Given the description of an element on the screen output the (x, y) to click on. 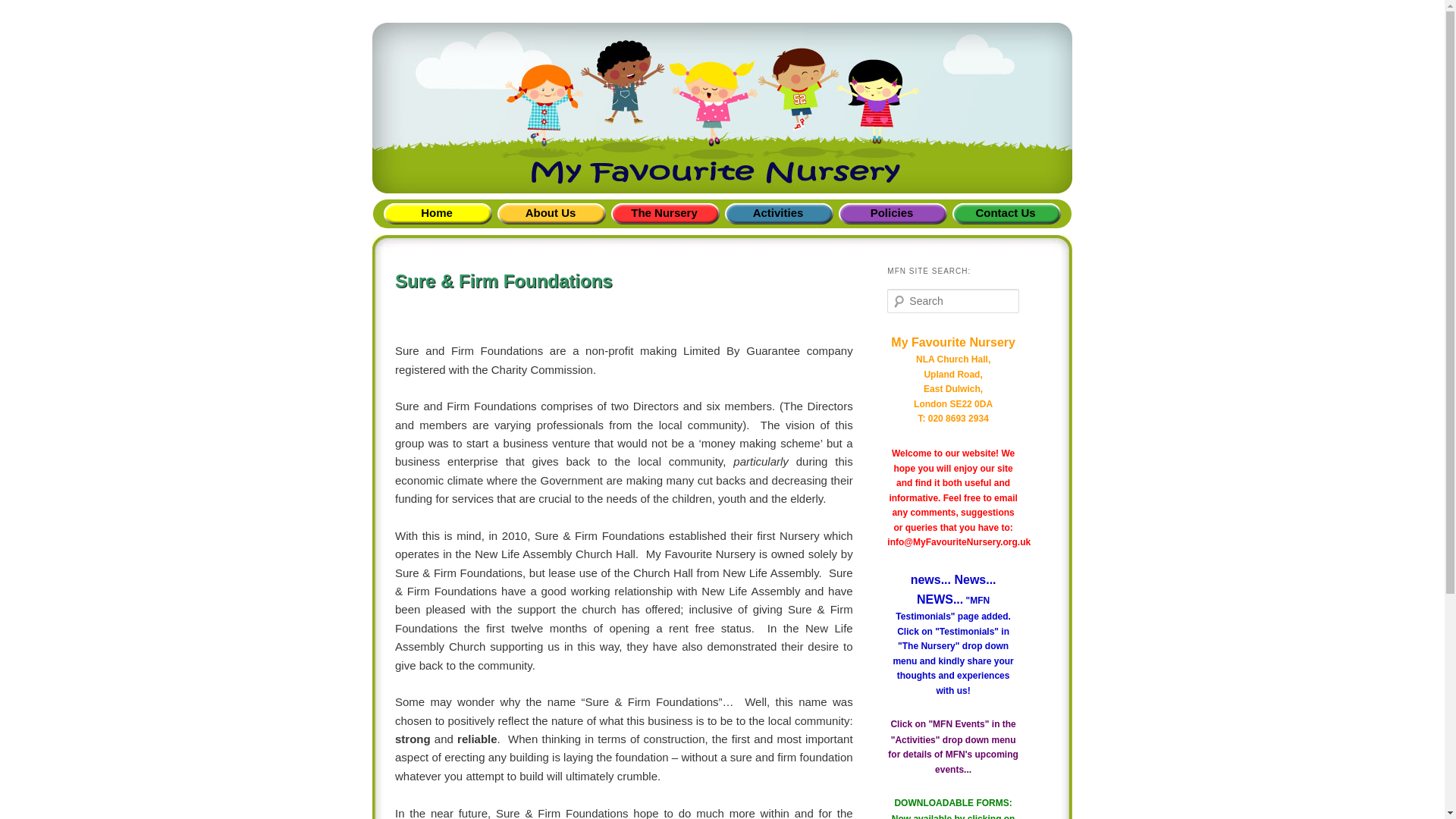
Policies (891, 214)
Home (436, 214)
The Nursery (663, 214)
Activities (777, 214)
About Us (550, 214)
Search (21, 11)
Contact Us (1005, 214)
